Given the description of an element on the screen output the (x, y) to click on. 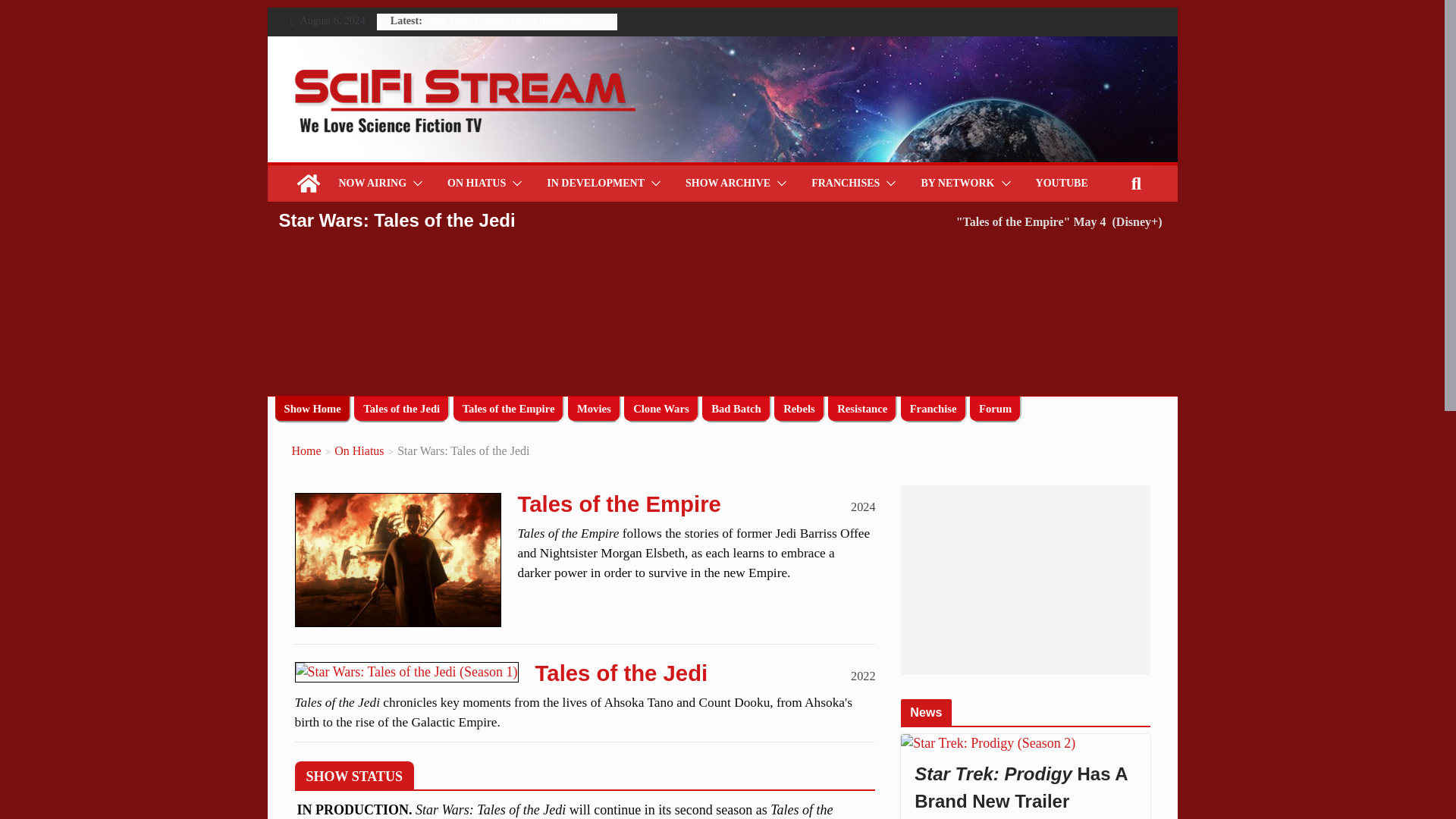
SciFi Stream (307, 183)
Star Trek: Prodigy Has A Brand New Trailer (508, 28)
ON HIATUS (475, 183)
NOW AIRING (371, 183)
Star Trek: Prodigy Has A Brand New Trailer (508, 28)
Star Trek: Prodigy Has A Brand New Trailer (1025, 742)
Star Trek: Prodigy Has A Brand New Trailer (1024, 787)
